Given the description of an element on the screen output the (x, y) to click on. 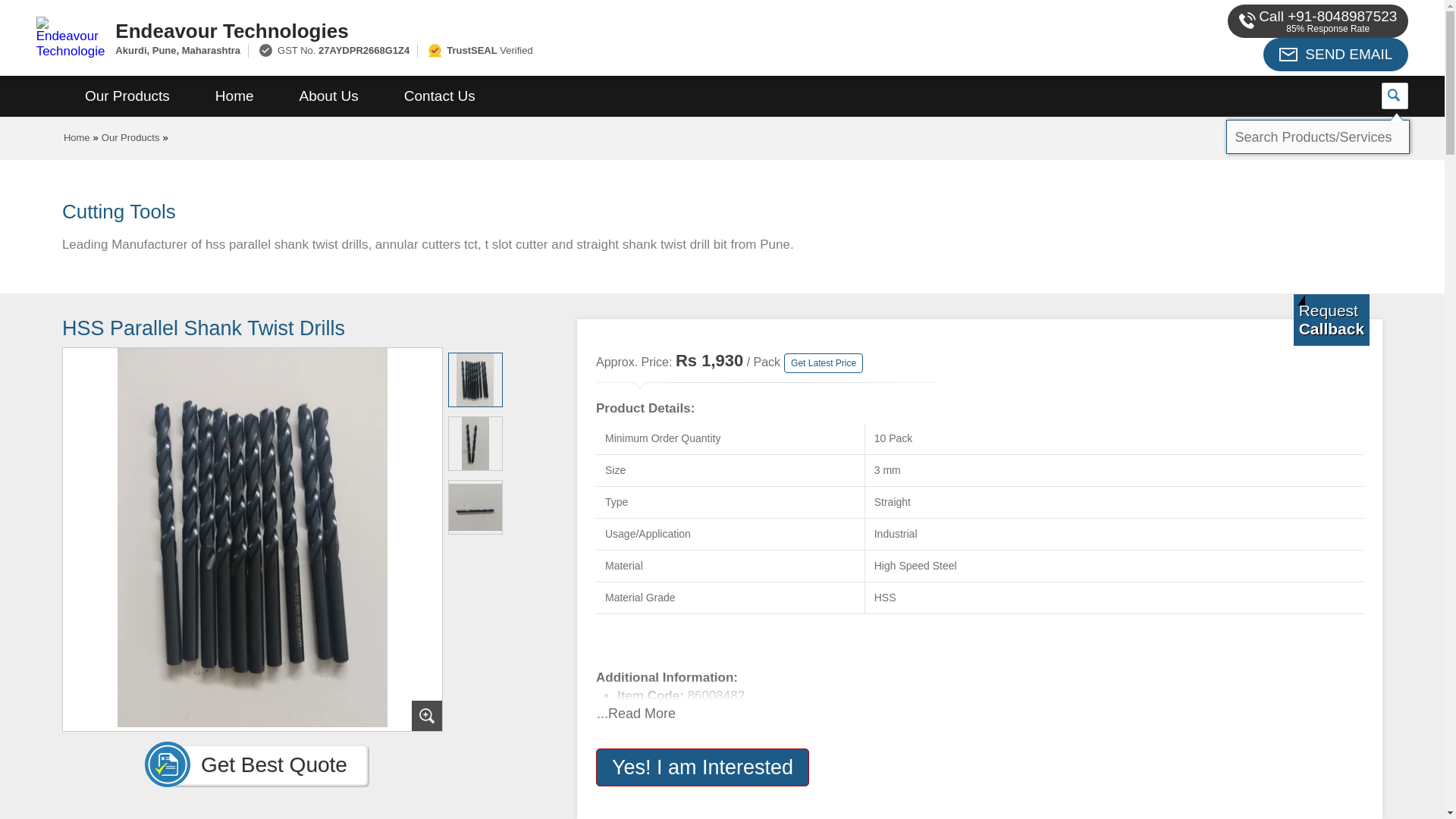
About Us (328, 96)
Get a Call from us (1332, 319)
Our Products (127, 96)
Endeavour Technologies (552, 31)
Home (234, 96)
